Given the description of an element on the screen output the (x, y) to click on. 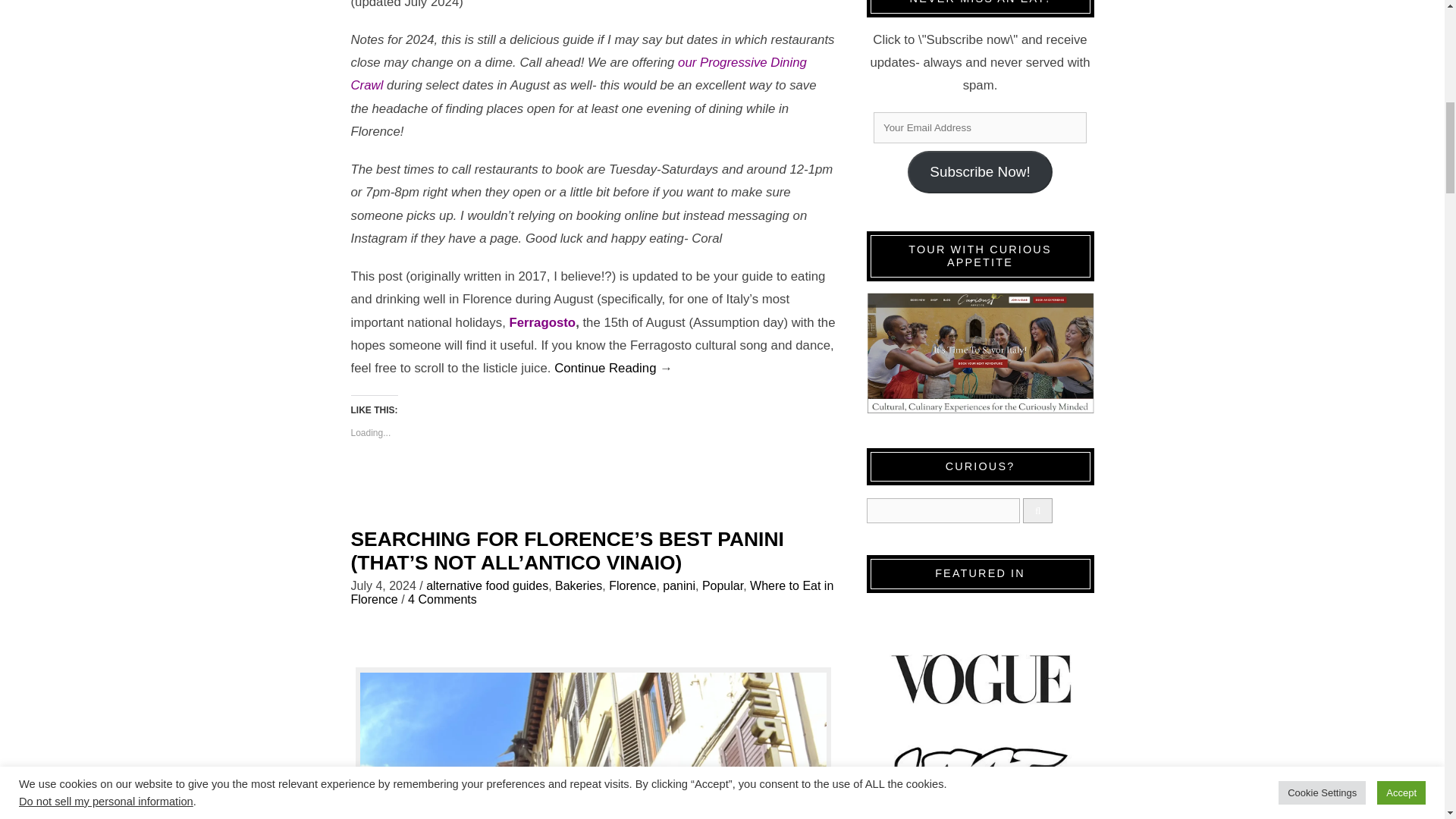
Cultural, Culinary Experiences for the Curiously Minded (979, 353)
our Progressive Dining Crawl (578, 73)
Press Page (979, 711)
Search (942, 510)
